Given the description of an element on the screen output the (x, y) to click on. 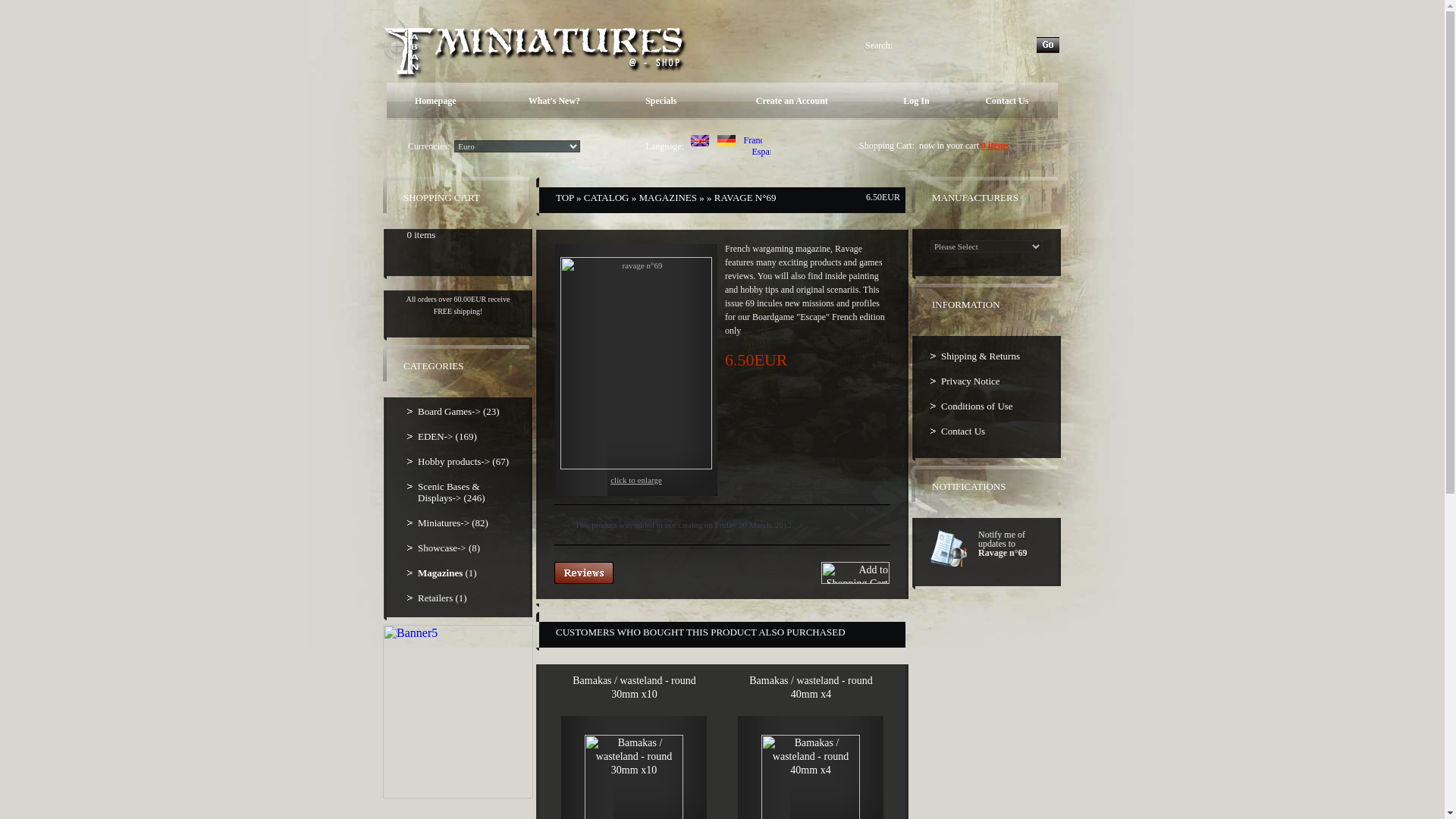
 Add to Shopping Cart  (855, 572)
TOP (564, 197)
CATALOG (605, 197)
 Espanol  (761, 152)
 Anglais  (698, 140)
Privacy Notice (986, 380)
 Notifications  (950, 548)
 Reviews  (583, 572)
MAGAZINES (668, 197)
Contact Us (986, 430)
